Given the description of an element on the screen output the (x, y) to click on. 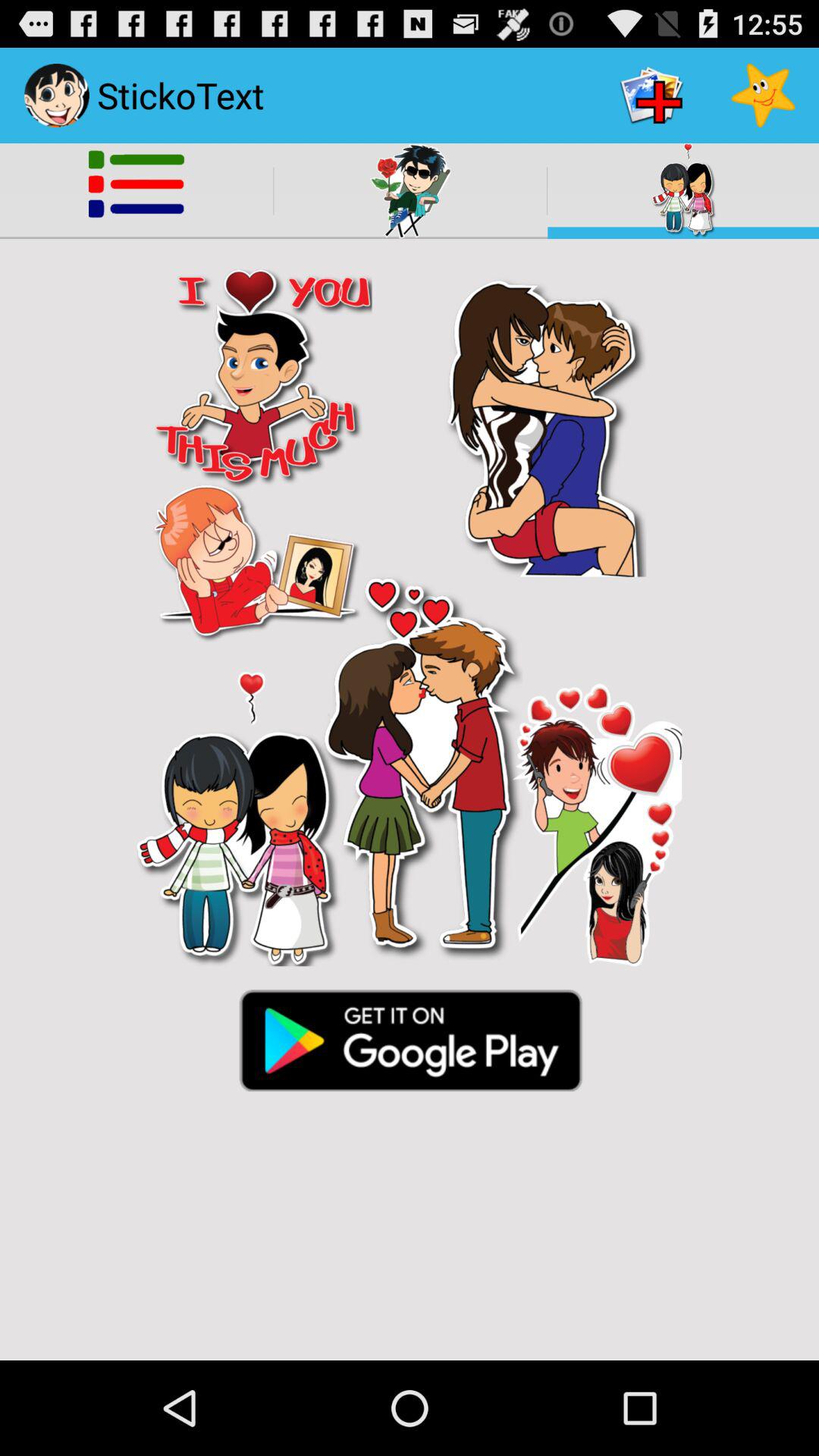
visit play store (409, 1038)
